Given the description of an element on the screen output the (x, y) to click on. 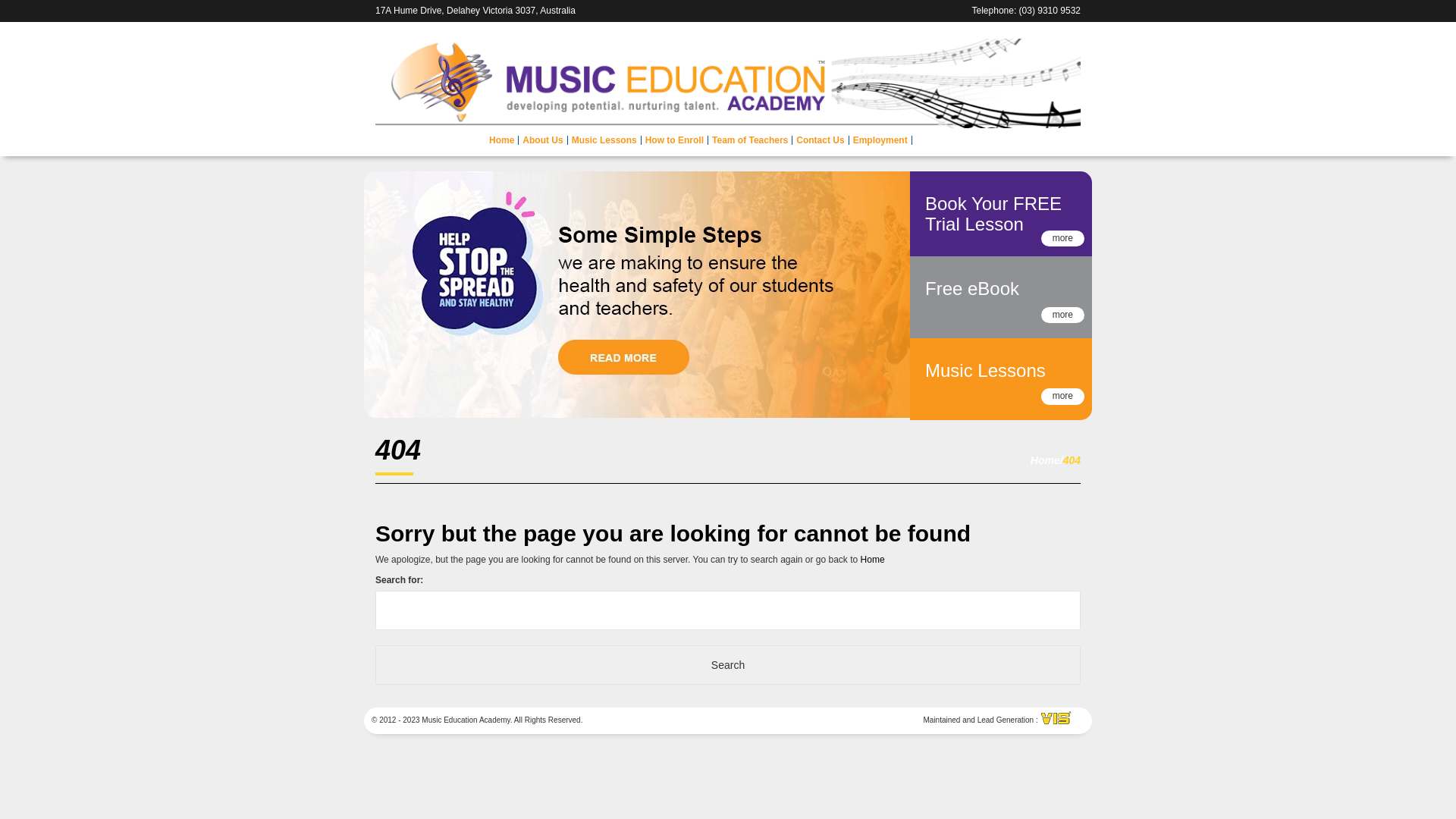
more Element type: text (1062, 396)
Search Element type: text (727, 664)
Home Element type: text (1045, 460)
help-stop-corona Element type: hover (637, 294)
more Element type: text (1062, 238)
Team of Teachers Element type: text (750, 139)
About Us Element type: text (542, 139)
more Element type: text (1062, 315)
(03) 9310 9532 Element type: text (1049, 10)
How to Enroll Element type: text (674, 139)
Music Lessons Element type: text (985, 370)
Contact Us Element type: text (820, 139)
Free eBook Element type: text (972, 288)
Home Element type: text (501, 139)
Book Your FREE
Trial Lesson Element type: text (993, 213)
Music Lessons Element type: text (604, 139)
Employment Element type: text (880, 139)
Home Element type: text (872, 559)
